Given the description of an element on the screen output the (x, y) to click on. 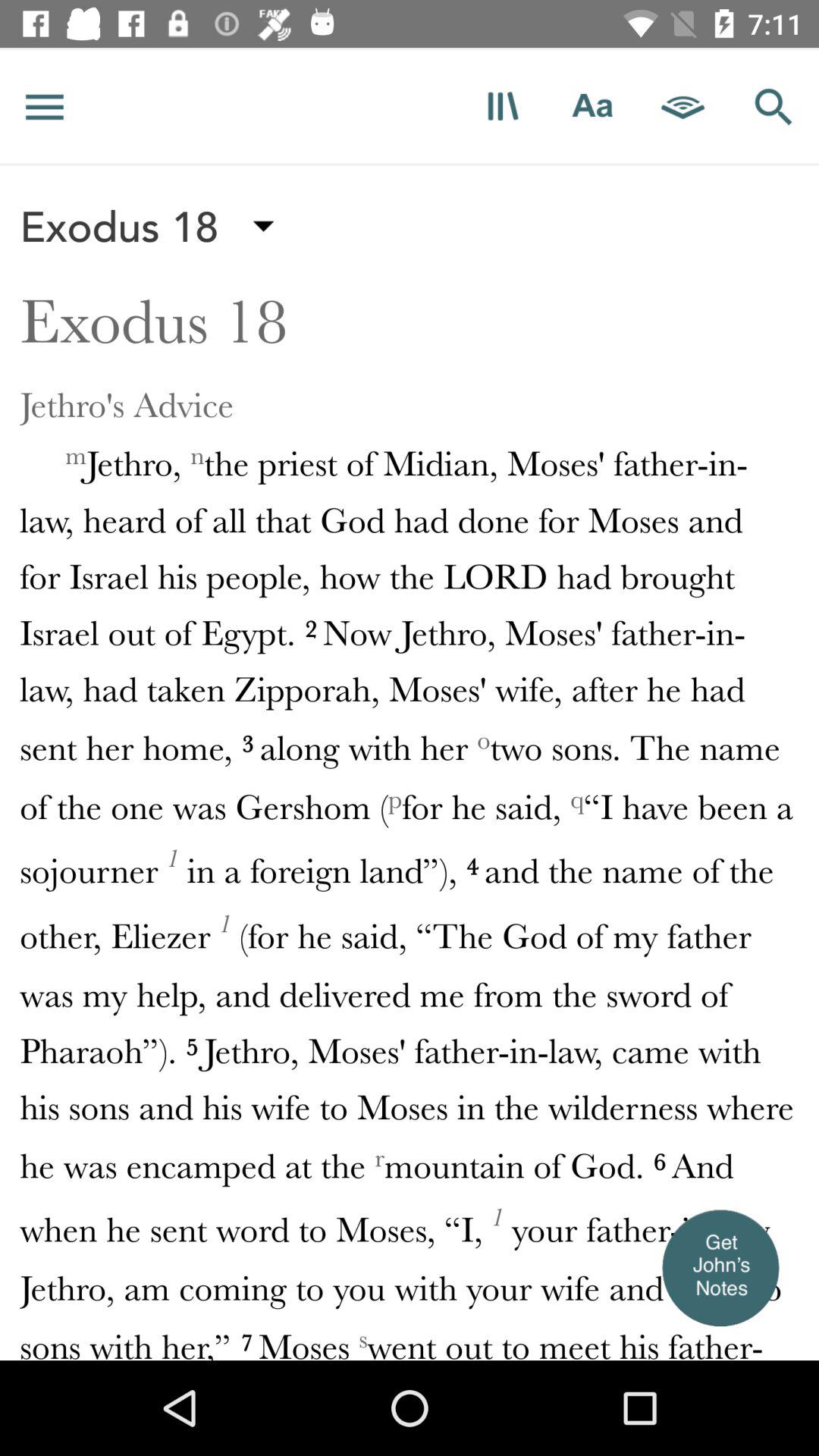
open menu (45, 106)
